Given the description of an element on the screen output the (x, y) to click on. 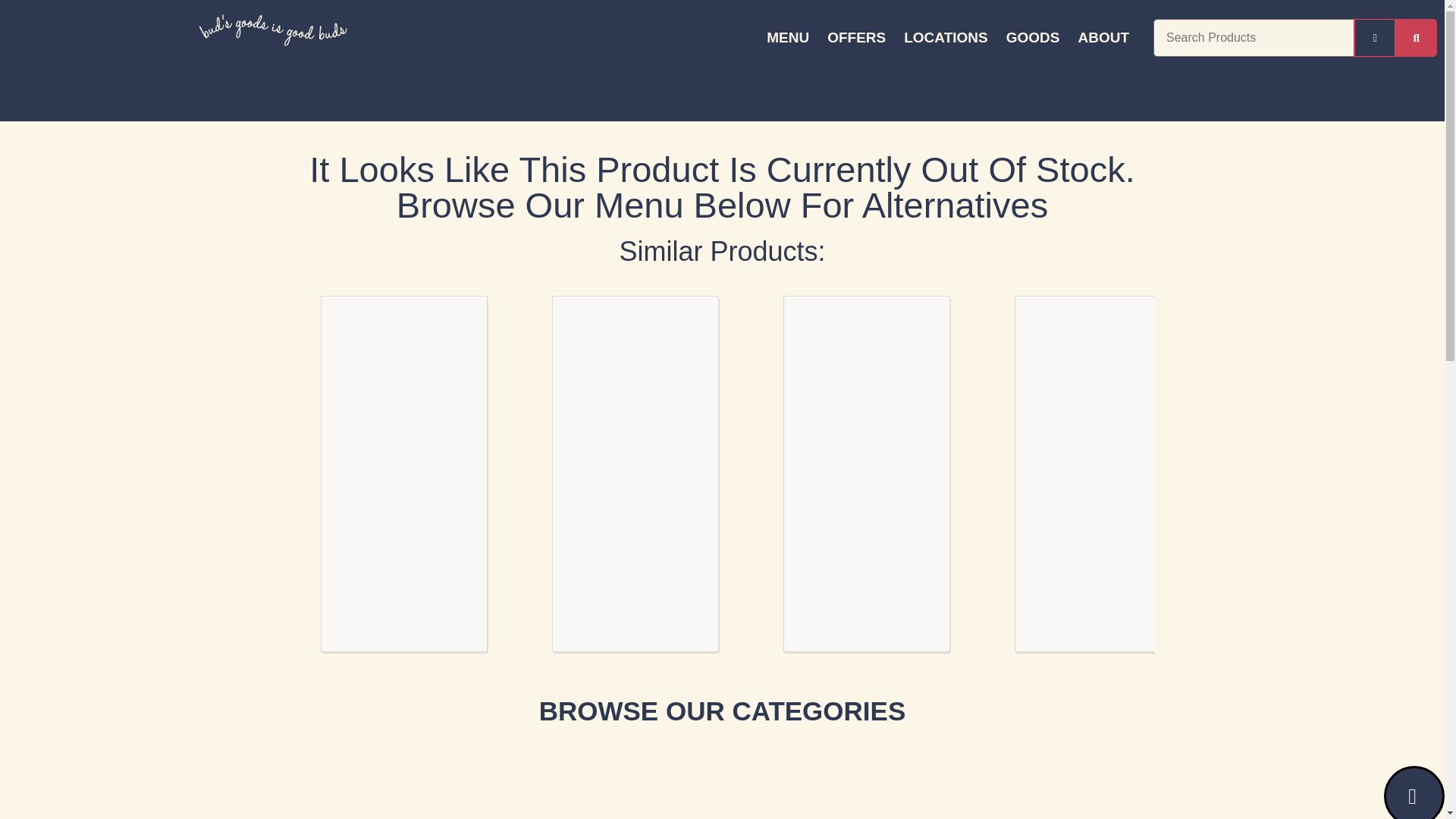
GOODS (1032, 37)
LOCATIONS (945, 37)
ABOUT (1103, 37)
MENU (787, 37)
OFFERS (856, 37)
Search products with matching keywords (1415, 37)
Clear product search keywords (1375, 37)
